Given the description of an element on the screen output the (x, y) to click on. 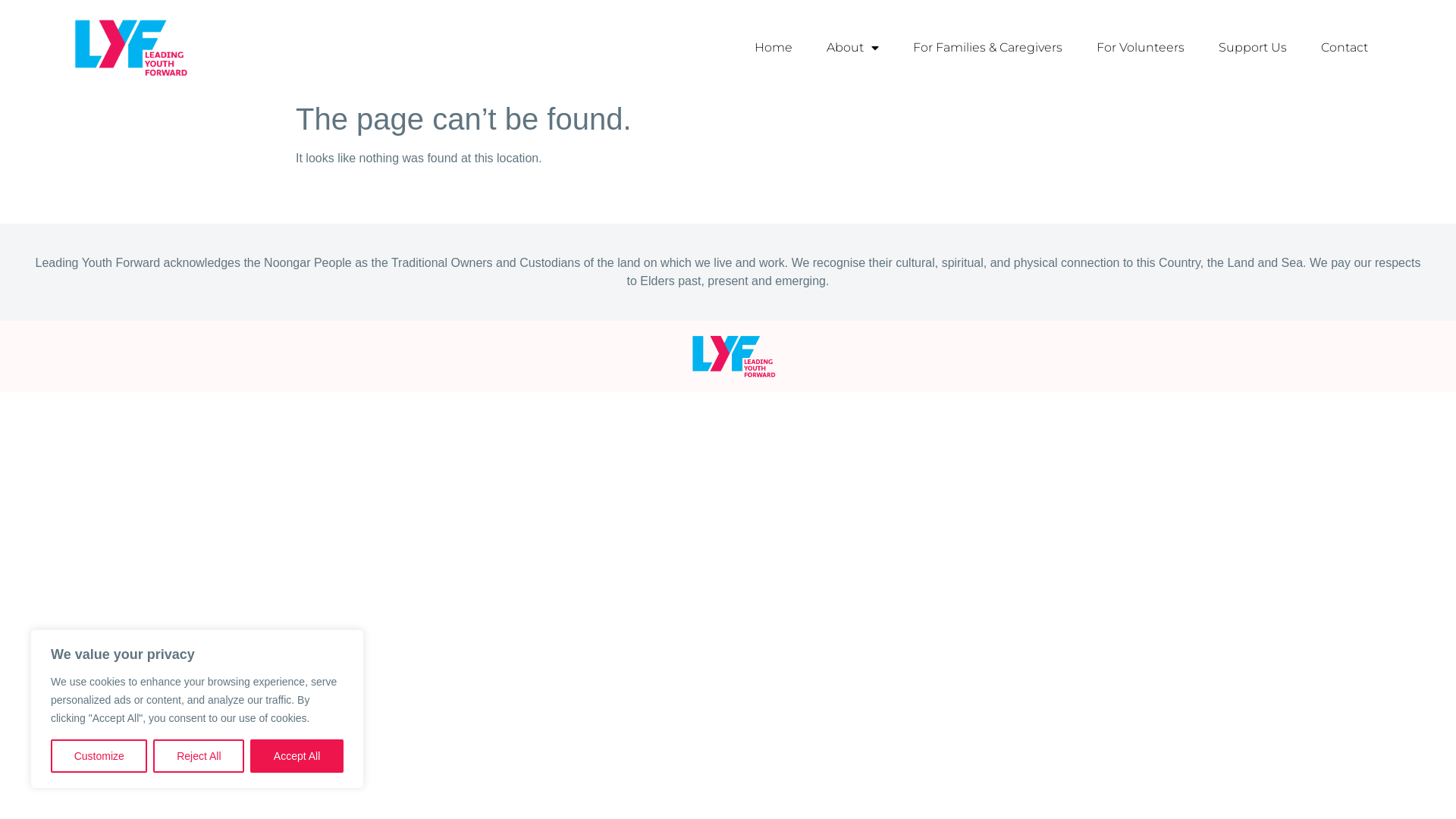
For Families & Caregivers Element type: text (987, 47)
Customize Element type: text (98, 755)
Home Element type: text (773, 47)
Accept All Element type: text (296, 755)
Reject All Element type: text (198, 755)
For Volunteers Element type: text (1140, 47)
Support Us Element type: text (1252, 47)
Contact Element type: text (1344, 47)
About Element type: text (852, 47)
